Given the description of an element on the screen output the (x, y) to click on. 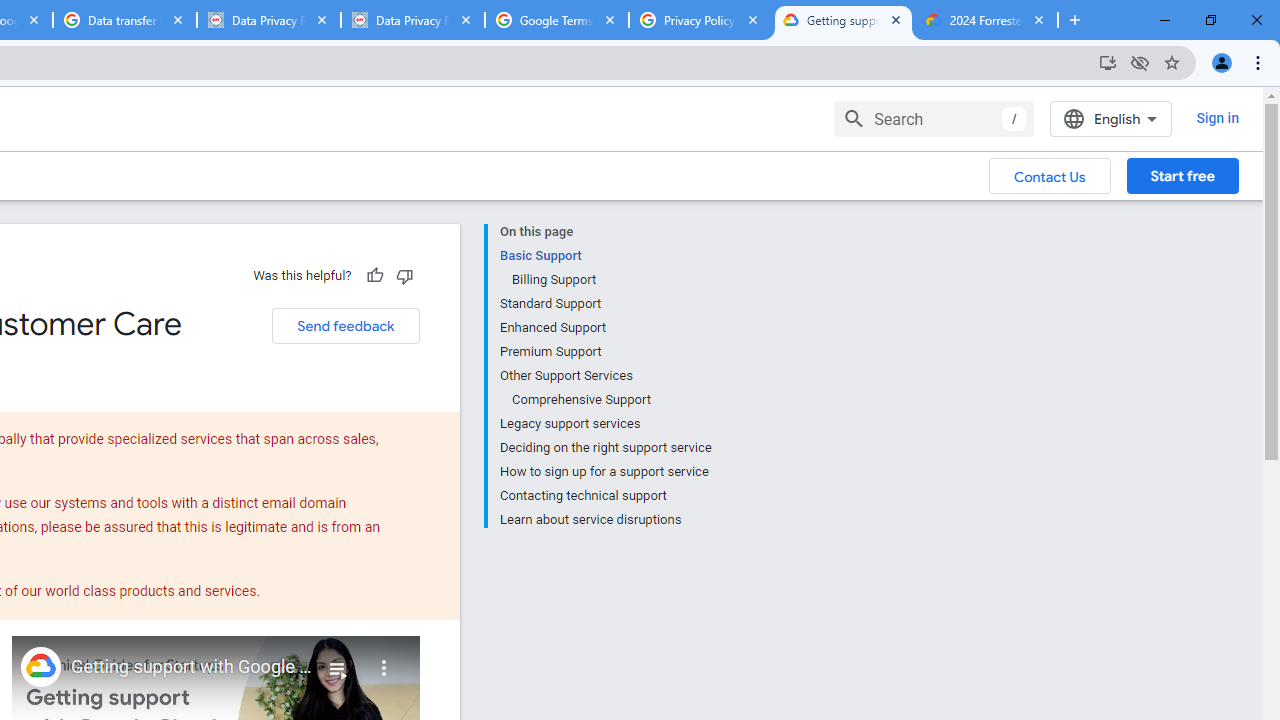
Standard Support (605, 304)
How to sign up for a support service (605, 471)
Legacy support services (605, 423)
Playlist (337, 660)
Install Google Cloud (1107, 62)
